Given the description of an element on the screen output the (x, y) to click on. 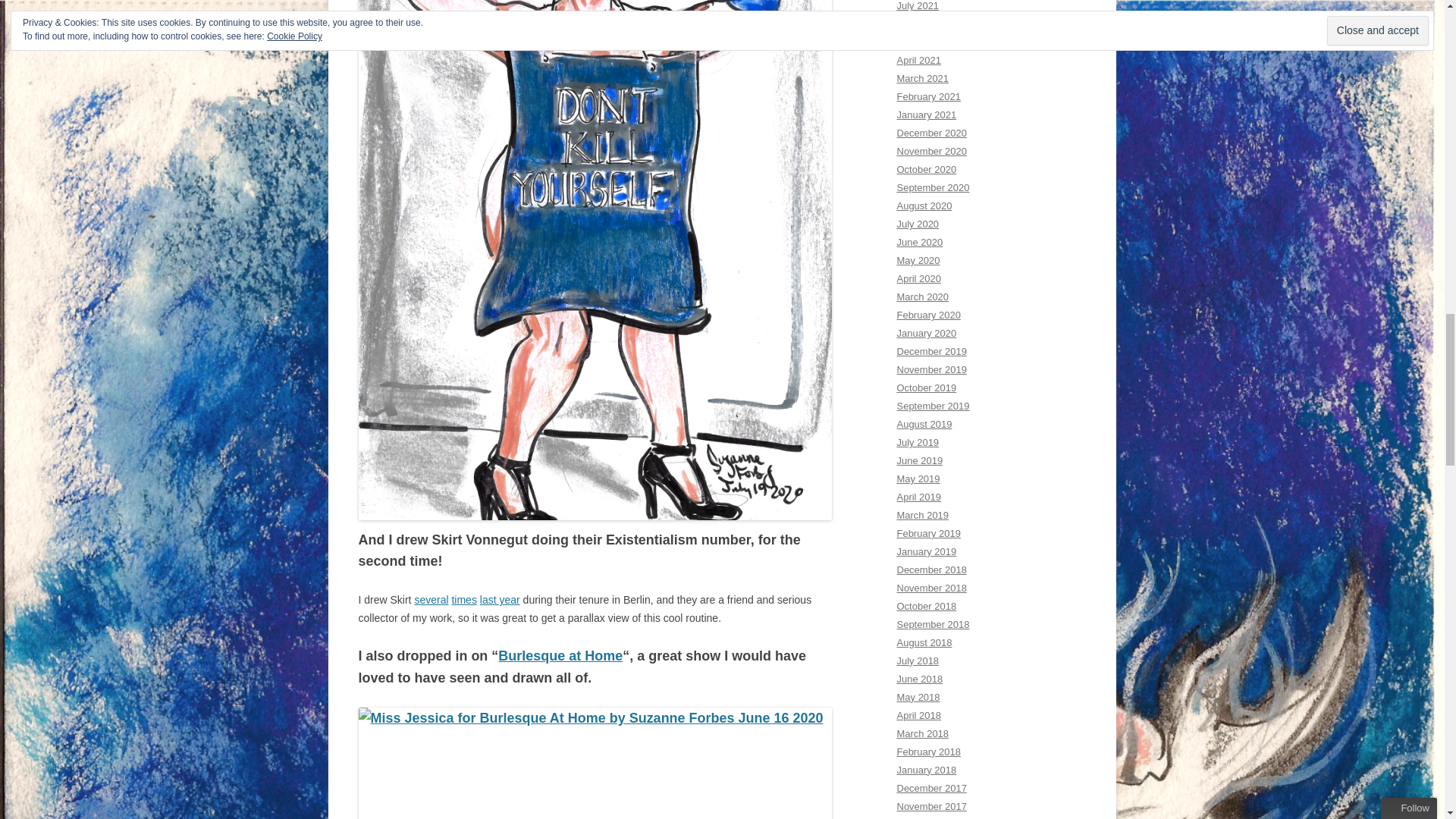
Burlesque at Home (560, 655)
last year (499, 599)
times (463, 599)
several (430, 599)
